Given the description of an element on the screen output the (x, y) to click on. 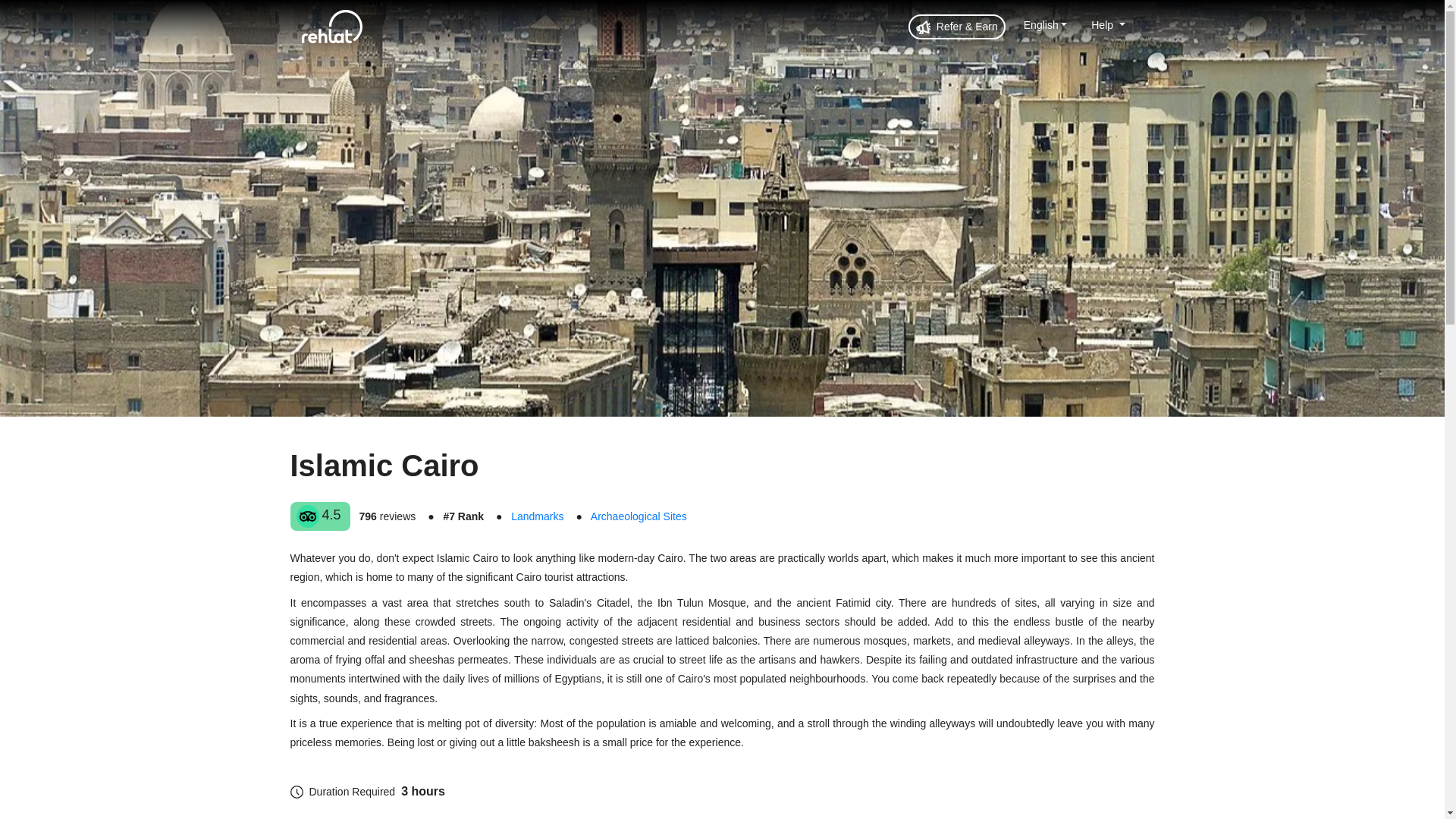
Archaeological Sites (639, 516)
English (1045, 24)
Landmarks (537, 516)
Help (1107, 24)
